Given the description of an element on the screen output the (x, y) to click on. 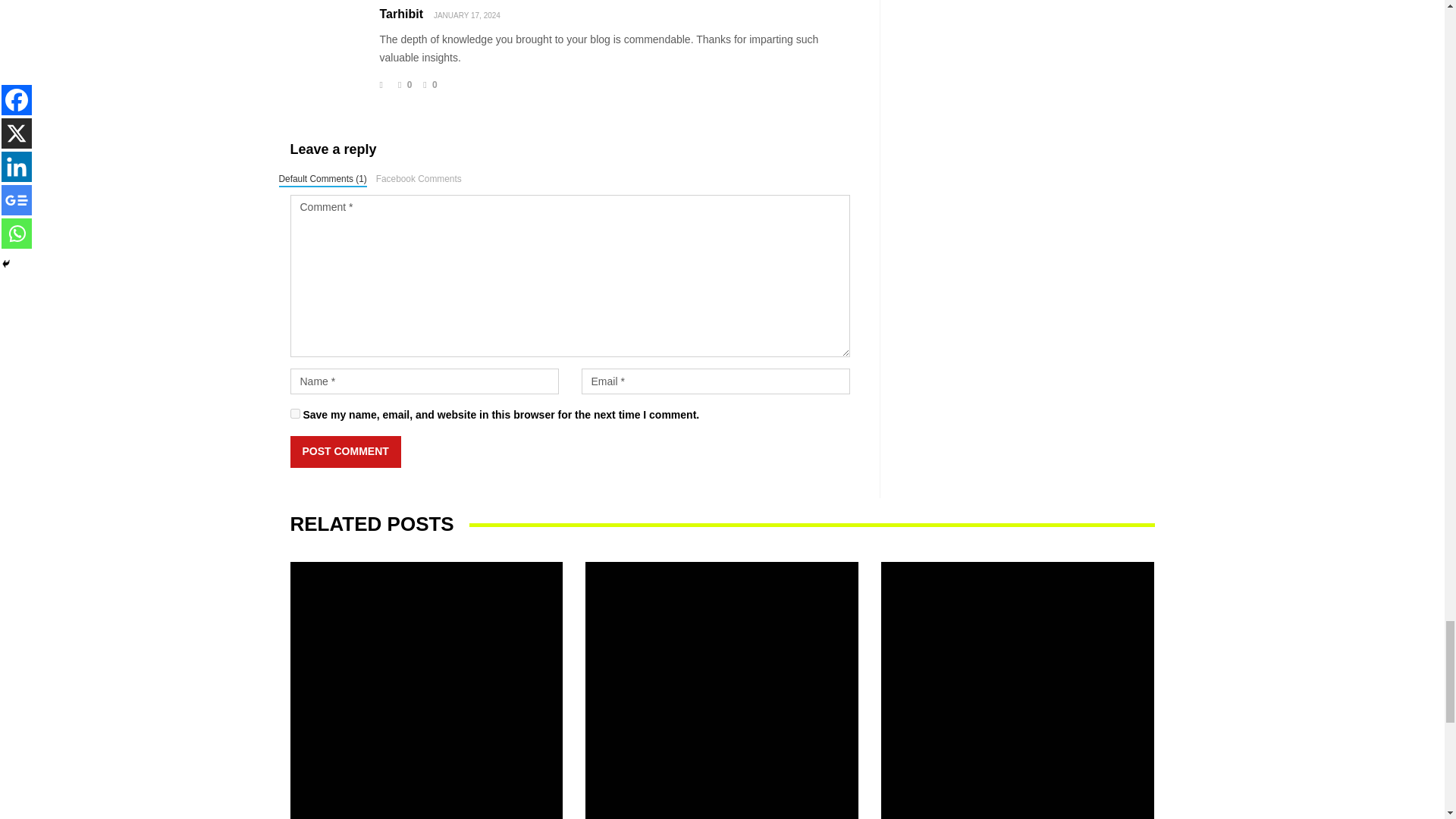
yes (294, 413)
